Given the description of an element on the screen output the (x, y) to click on. 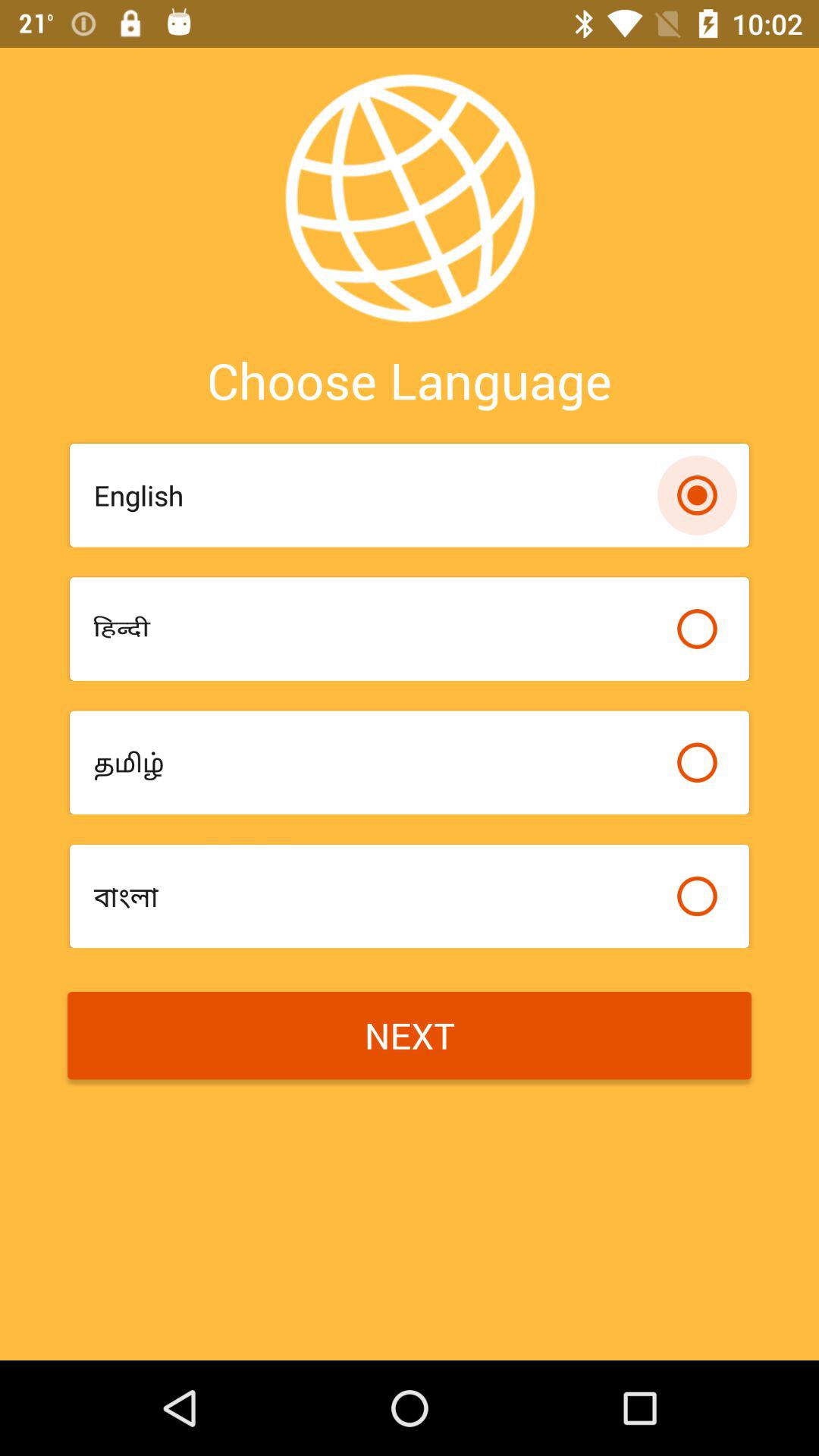
jump to english icon (377, 495)
